Given the description of an element on the screen output the (x, y) to click on. 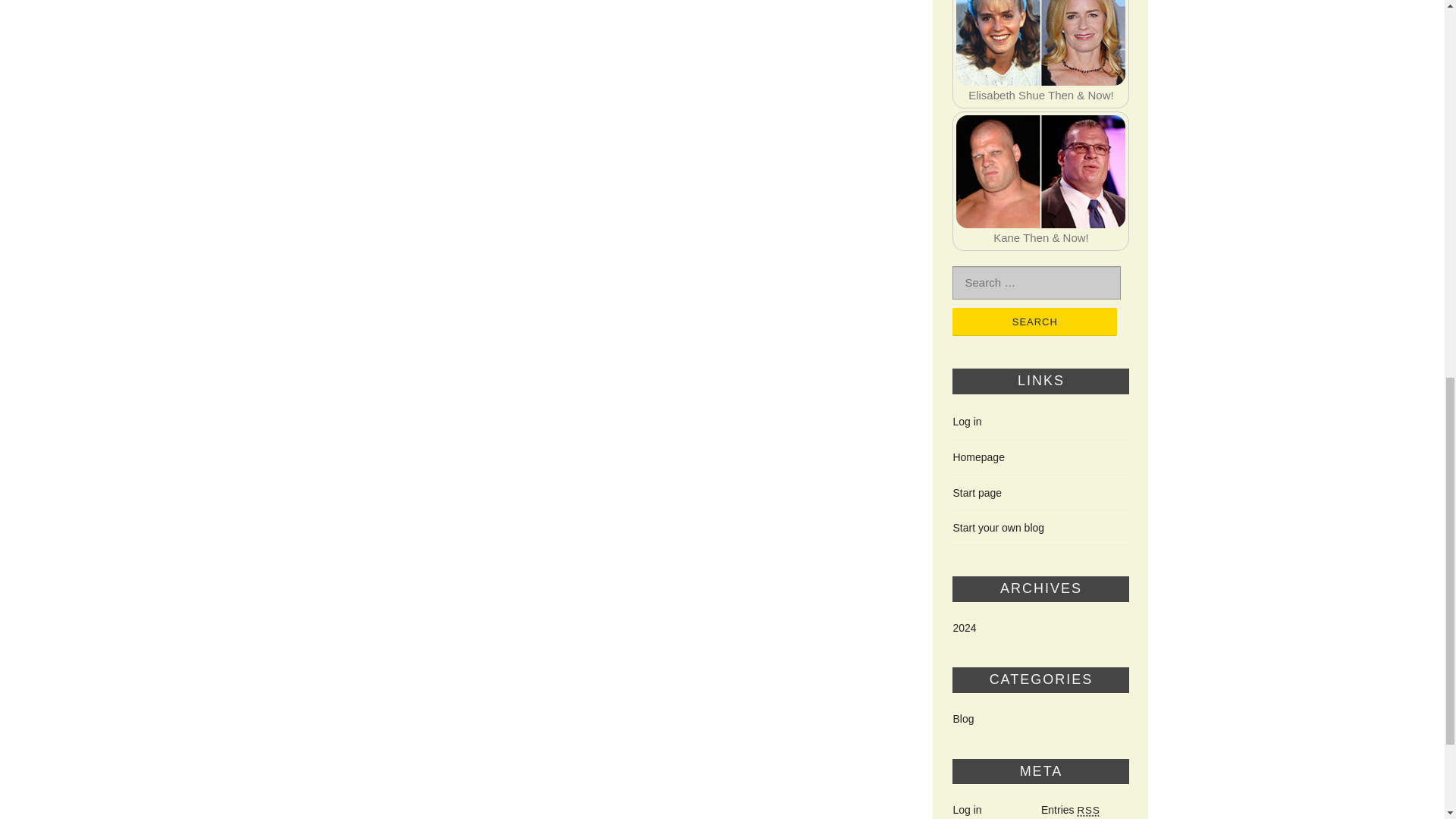
Log in (966, 421)
Entries RSS (1070, 809)
Search (1034, 321)
Start page (976, 492)
Homepage (978, 457)
Log in (966, 809)
Search (1034, 321)
Really Simple Syndication (1088, 810)
Blog (963, 718)
Search (1034, 321)
Start your own blog (997, 527)
2024 (963, 627)
